Given the description of an element on the screen output the (x, y) to click on. 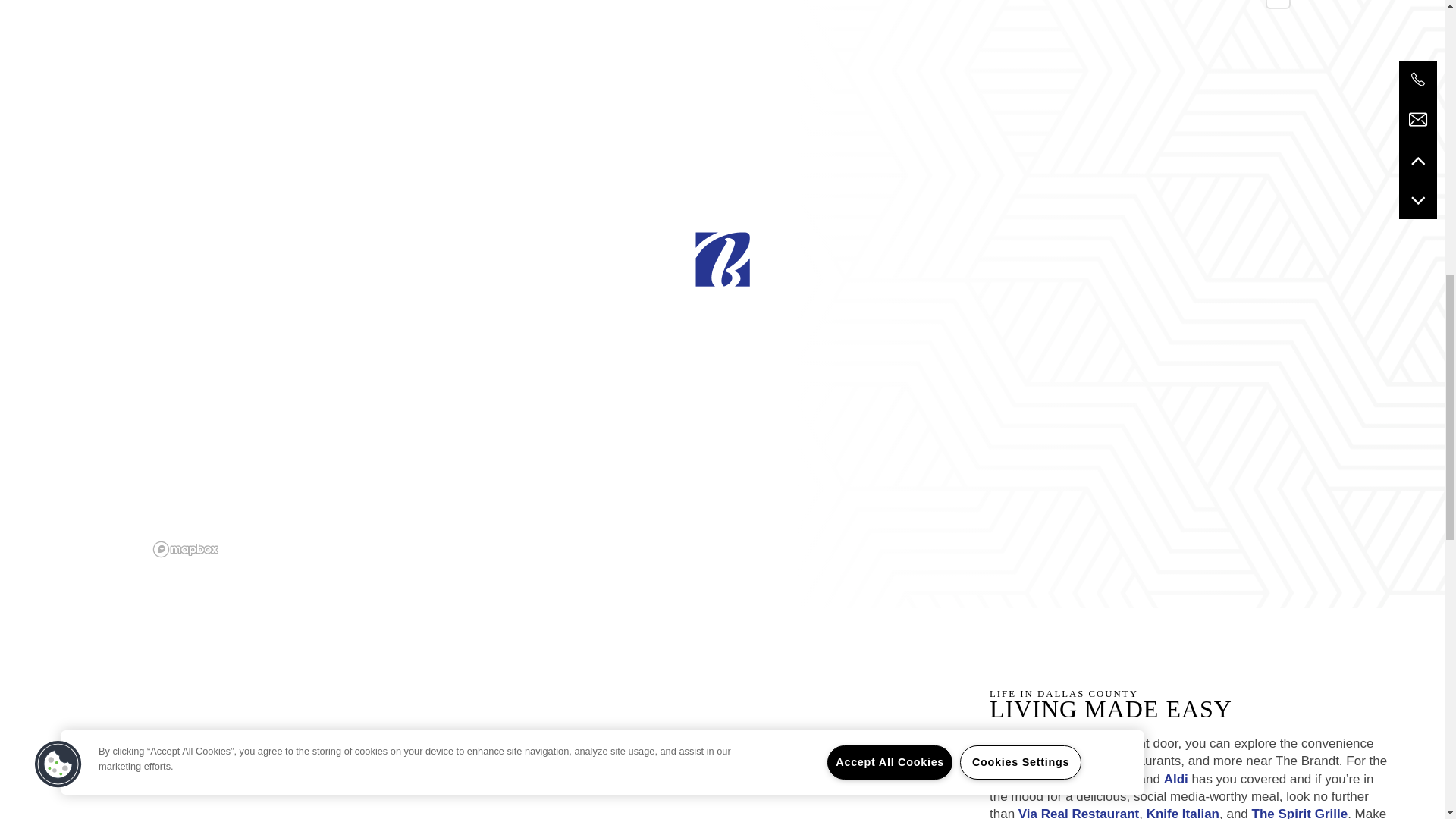
Via Real Restaurant (1077, 812)
Zoom out (1277, 3)
The Spirit Grille (1300, 812)
Knife Italian (1183, 812)
Aldi (1175, 779)
Kroger (1114, 779)
